Given the description of an element on the screen output the (x, y) to click on. 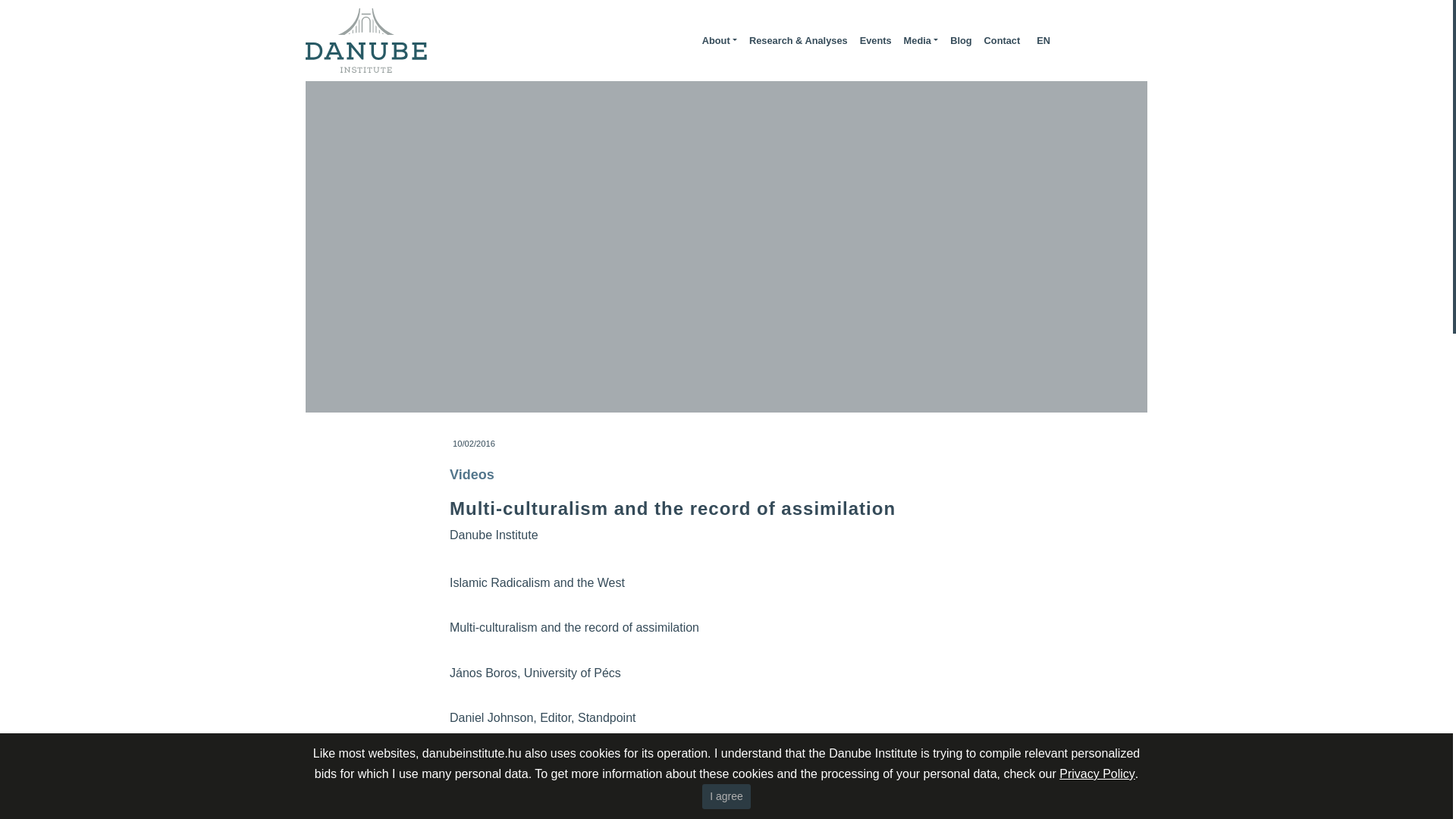
Danube Institute (493, 534)
Events (875, 40)
Contact (1002, 40)
About (718, 40)
Contact (1002, 40)
Events (875, 40)
Media (921, 40)
Blog (959, 40)
Blog (959, 40)
About (718, 40)
